Given the description of an element on the screen output the (x, y) to click on. 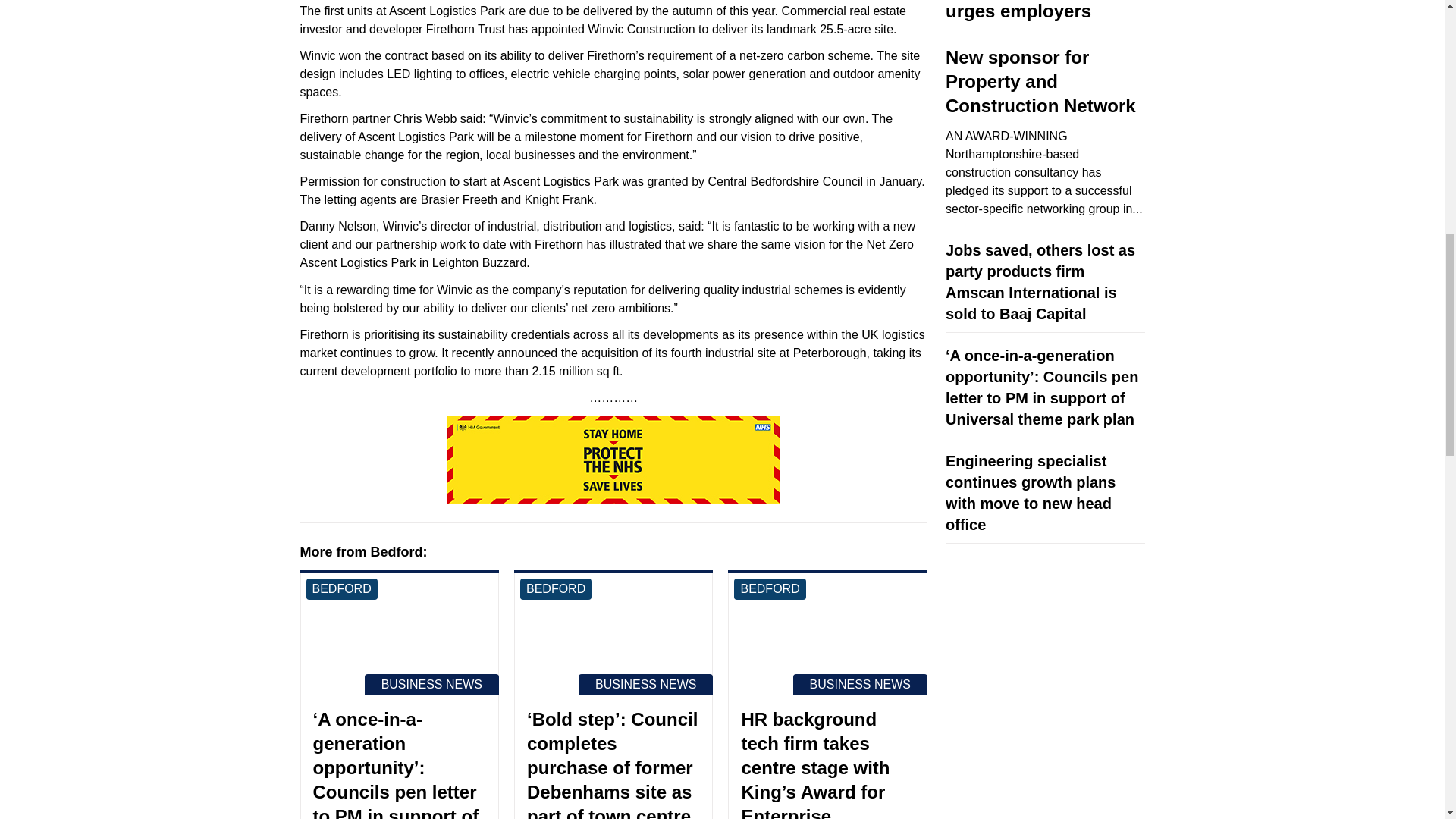
See all bedford (555, 588)
See all business news (432, 684)
See all bedford (341, 588)
